Given the description of an element on the screen output the (x, y) to click on. 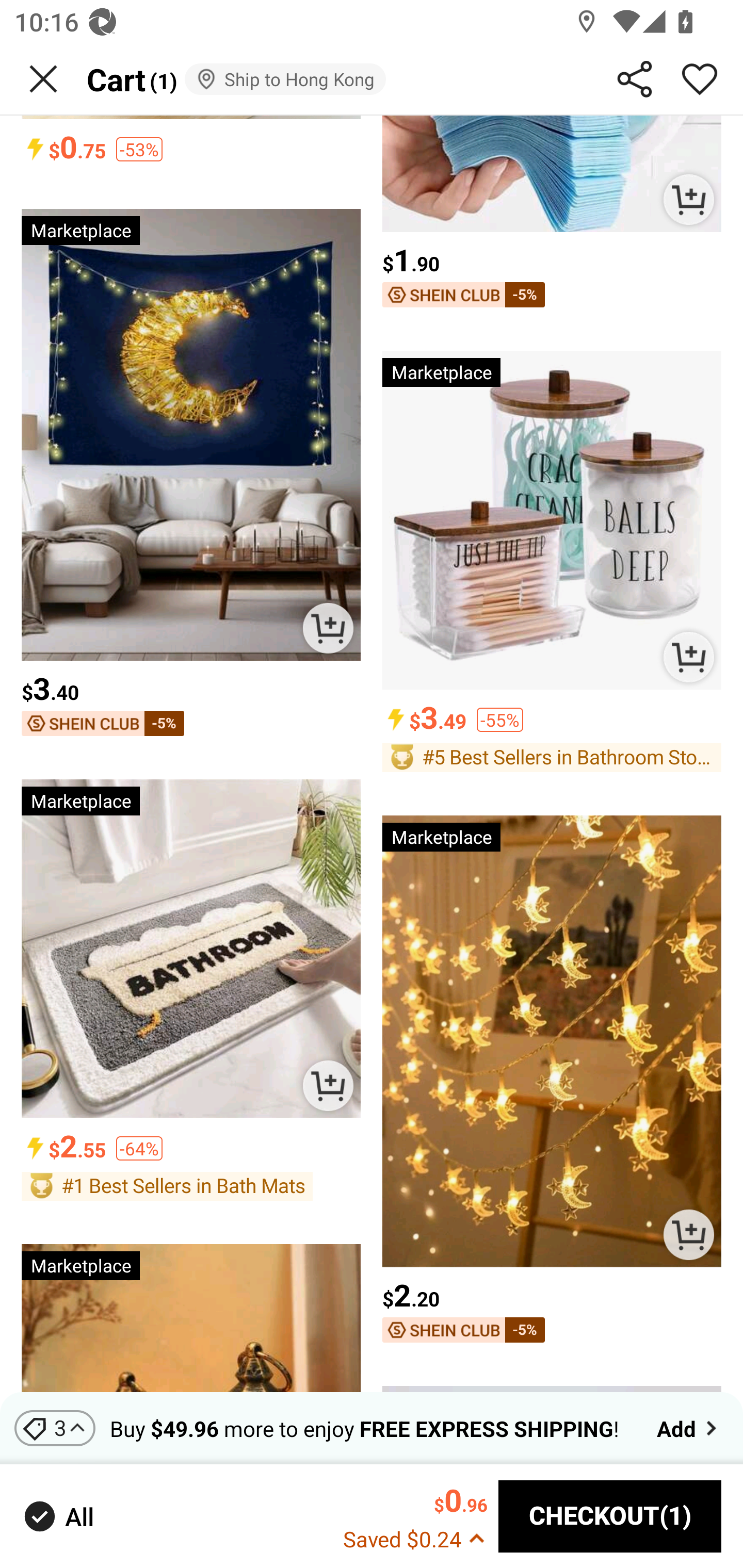
BACK (43, 78)
Wishlist (699, 78)
Share (634, 79)
Ship to Hong Kong (285, 78)
ADD TO CART (688, 199)
ADD TO CART (327, 627)
ADD TO CART (688, 656)
ADD TO CART (327, 1085)
ADD TO CART (688, 1234)
3 (54, 1428)
Add (688, 1428)
CHECKOUT(1) (609, 1516)
All (57, 1517)
